Given the description of an element on the screen output the (x, y) to click on. 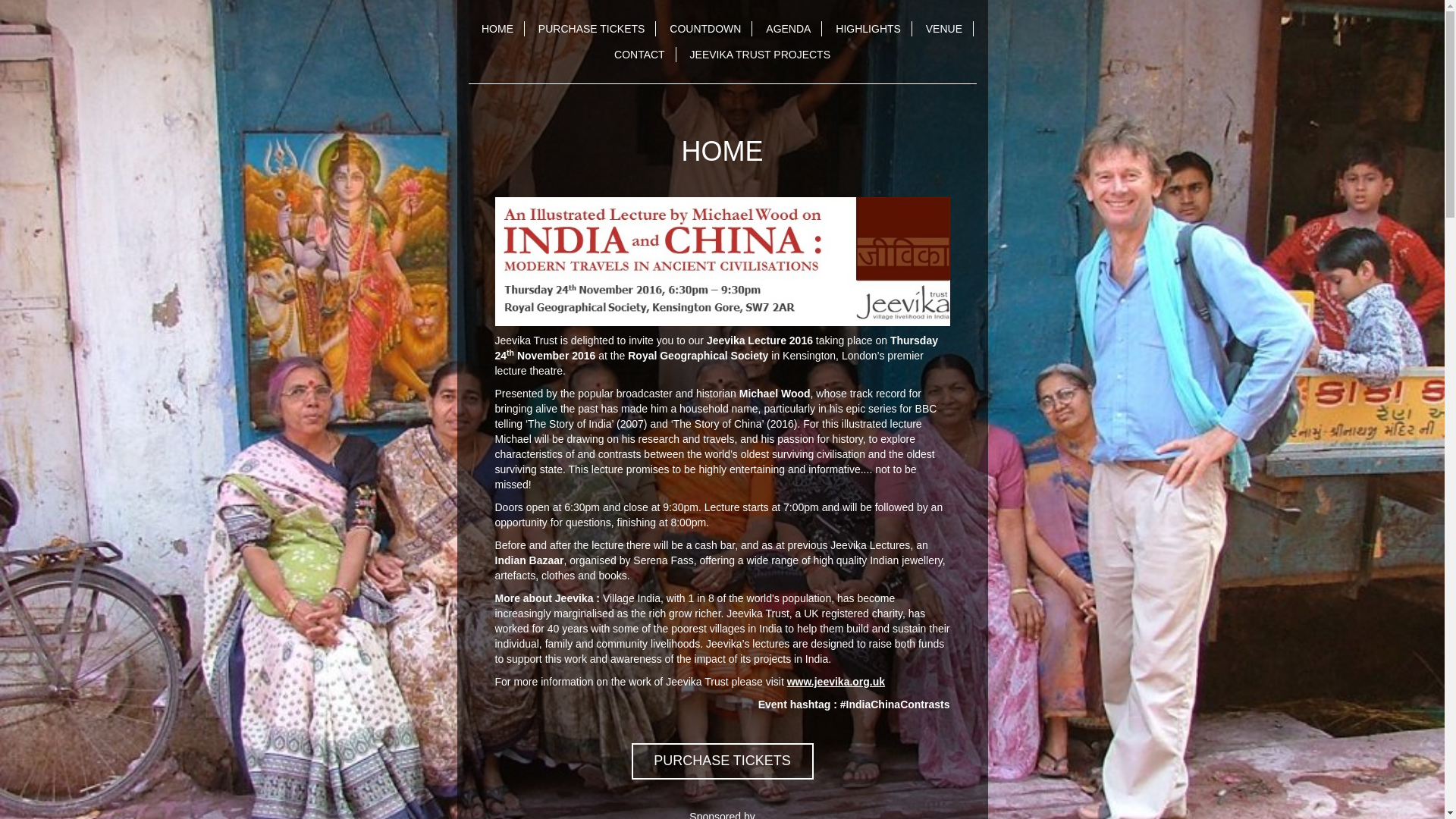
PURCHASE TICKETS (721, 760)
HIGHLIGHTS (868, 28)
HOME (497, 28)
JEEVIKA TRUST PROJECTS (760, 54)
PURCHASE TICKETS (591, 28)
www.jeevika.org.uk (836, 681)
AGENDA (788, 28)
COUNTDOWN (705, 28)
CONTACT (640, 54)
Purchase Tickets (721, 760)
VENUE (944, 28)
